Given the description of an element on the screen output the (x, y) to click on. 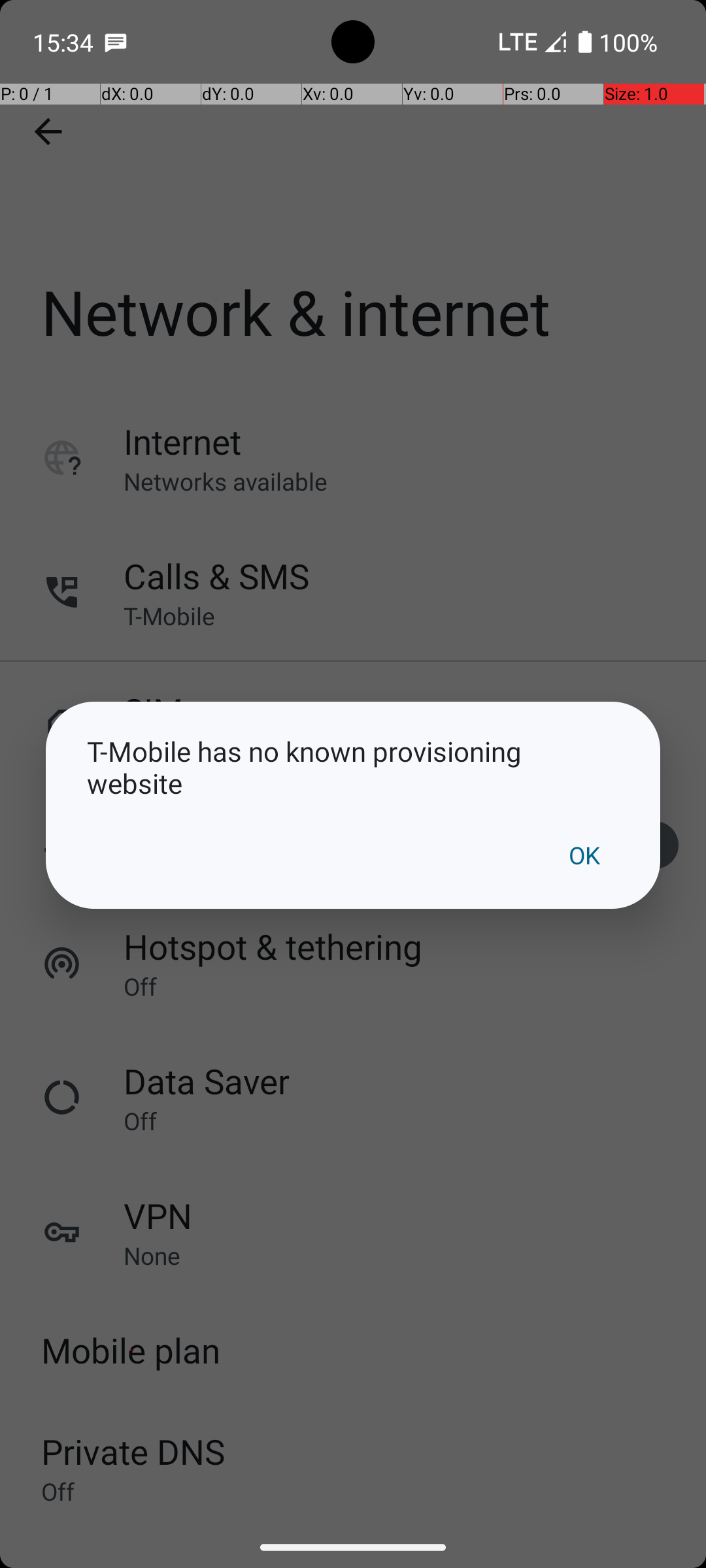
T-Mobile has no known provisioning website Element type: android.widget.TextView (352, 766)
